Given the description of an element on the screen output the (x, y) to click on. 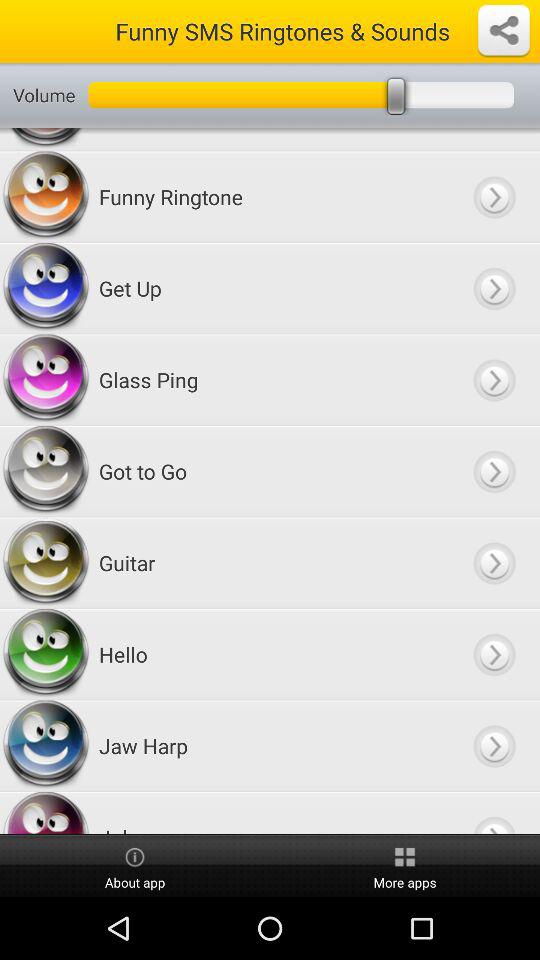
go to play (494, 562)
